Given the description of an element on the screen output the (x, y) to click on. 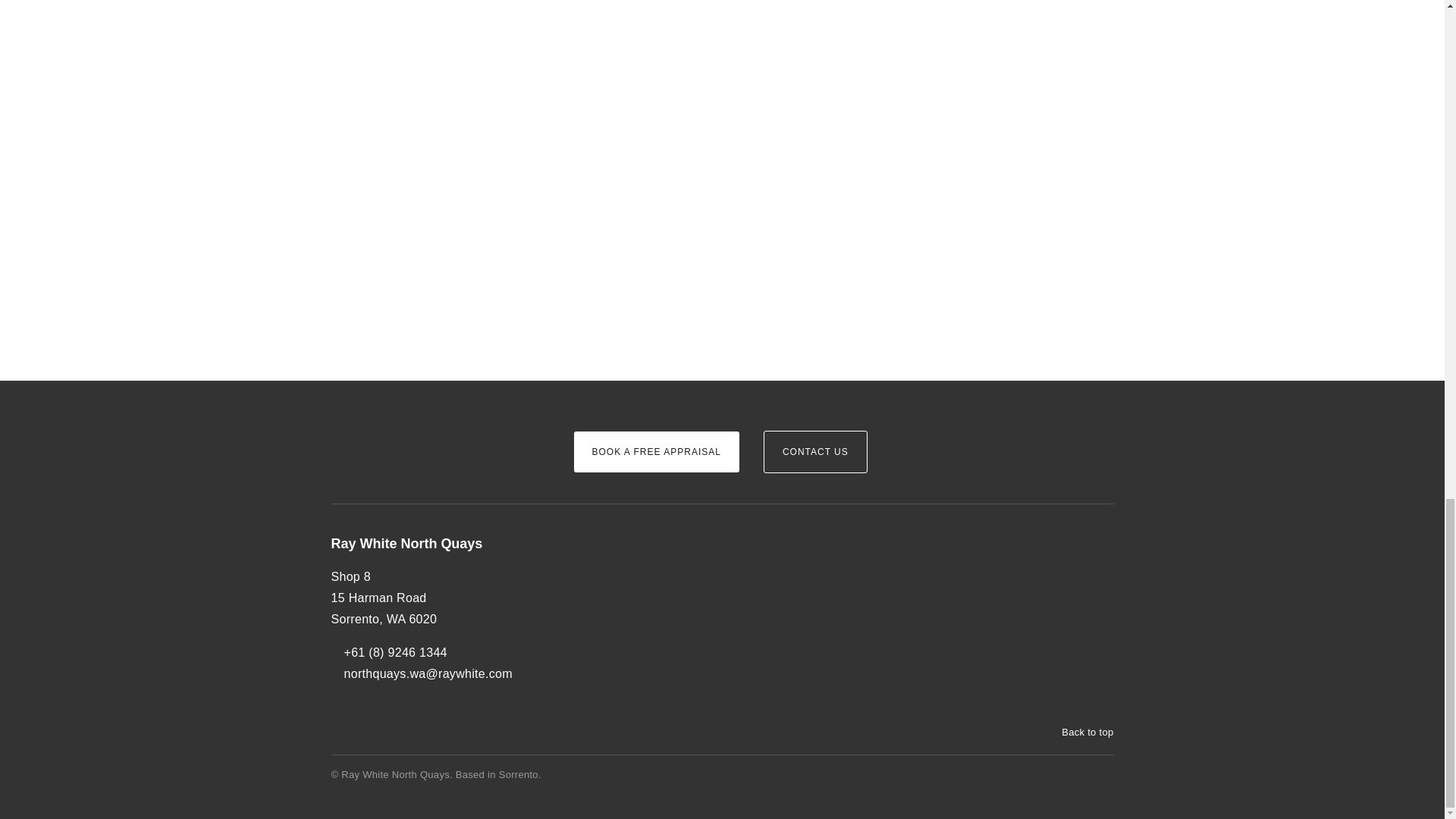
Ray White (376, 425)
CONTACT US (814, 451)
BOOK A FREE APPRAISAL (655, 451)
Ray White North Quays (439, 544)
Back to top (1079, 732)
